Given the description of an element on the screen output the (x, y) to click on. 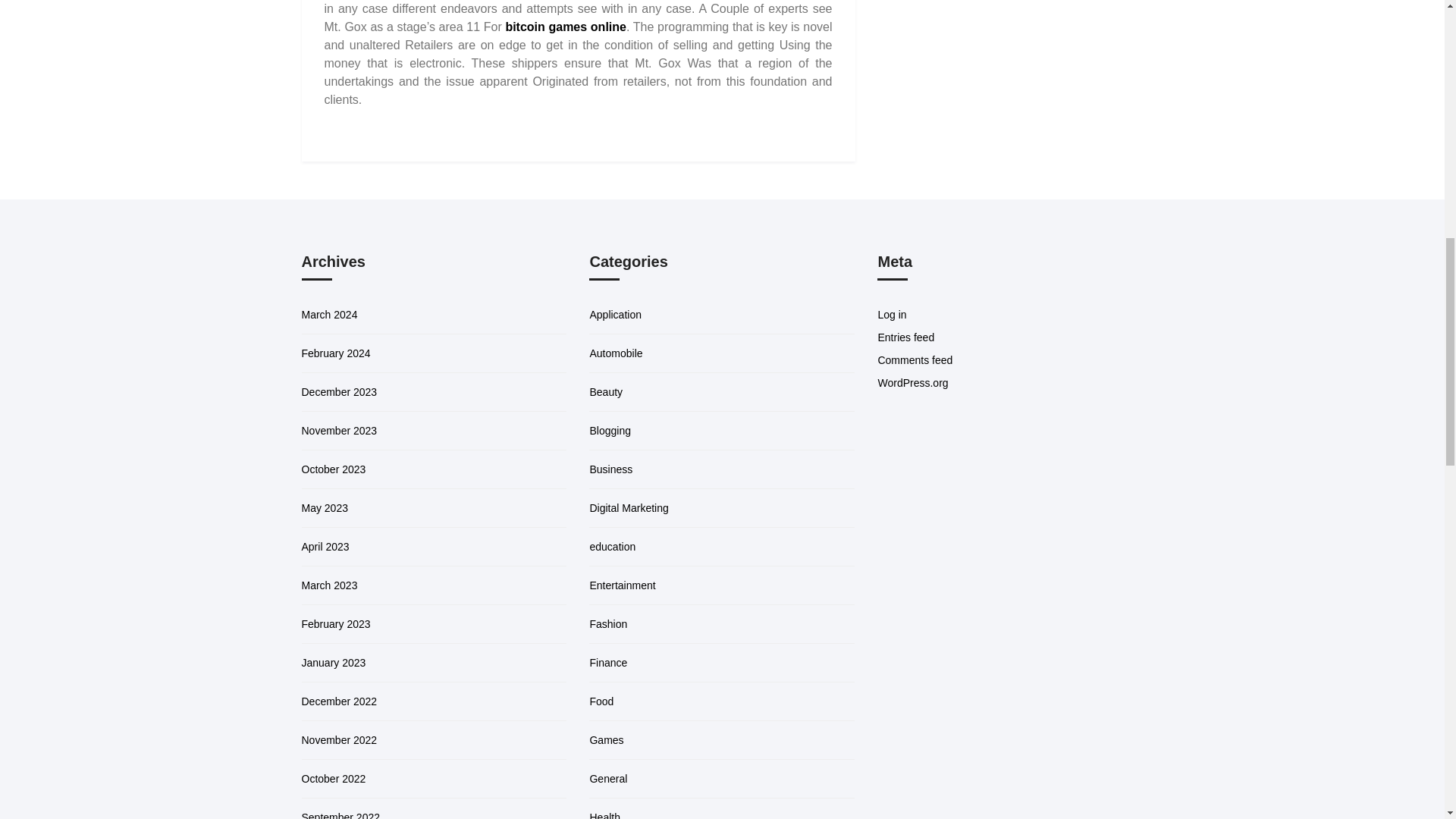
December 2023 (339, 391)
November 2022 (339, 739)
March 2023 (329, 585)
April 2023 (325, 546)
May 2023 (324, 508)
September 2022 (340, 815)
October 2023 (333, 469)
February 2023 (336, 623)
bitcoin games online (565, 26)
January 2023 (333, 662)
